Given the description of an element on the screen output the (x, y) to click on. 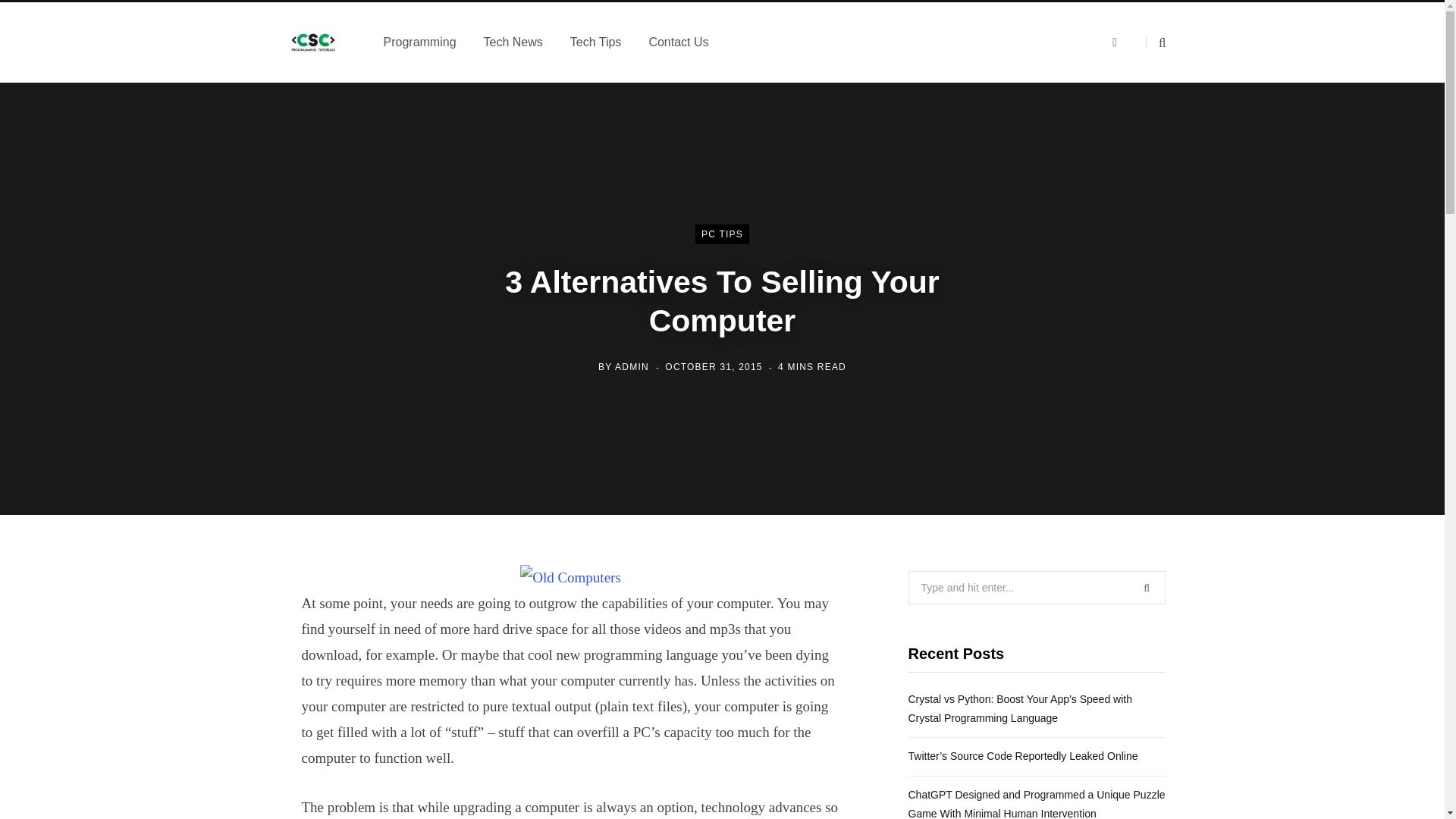
Tech Tips (595, 41)
Tech News (513, 41)
Search (1155, 42)
PC TIPS (722, 234)
Posts by Admin (631, 366)
Programming (419, 41)
Computer Science Programming Tutorials (313, 42)
Contact Us (678, 41)
ADMIN (631, 366)
